Given the description of an element on the screen output the (x, y) to click on. 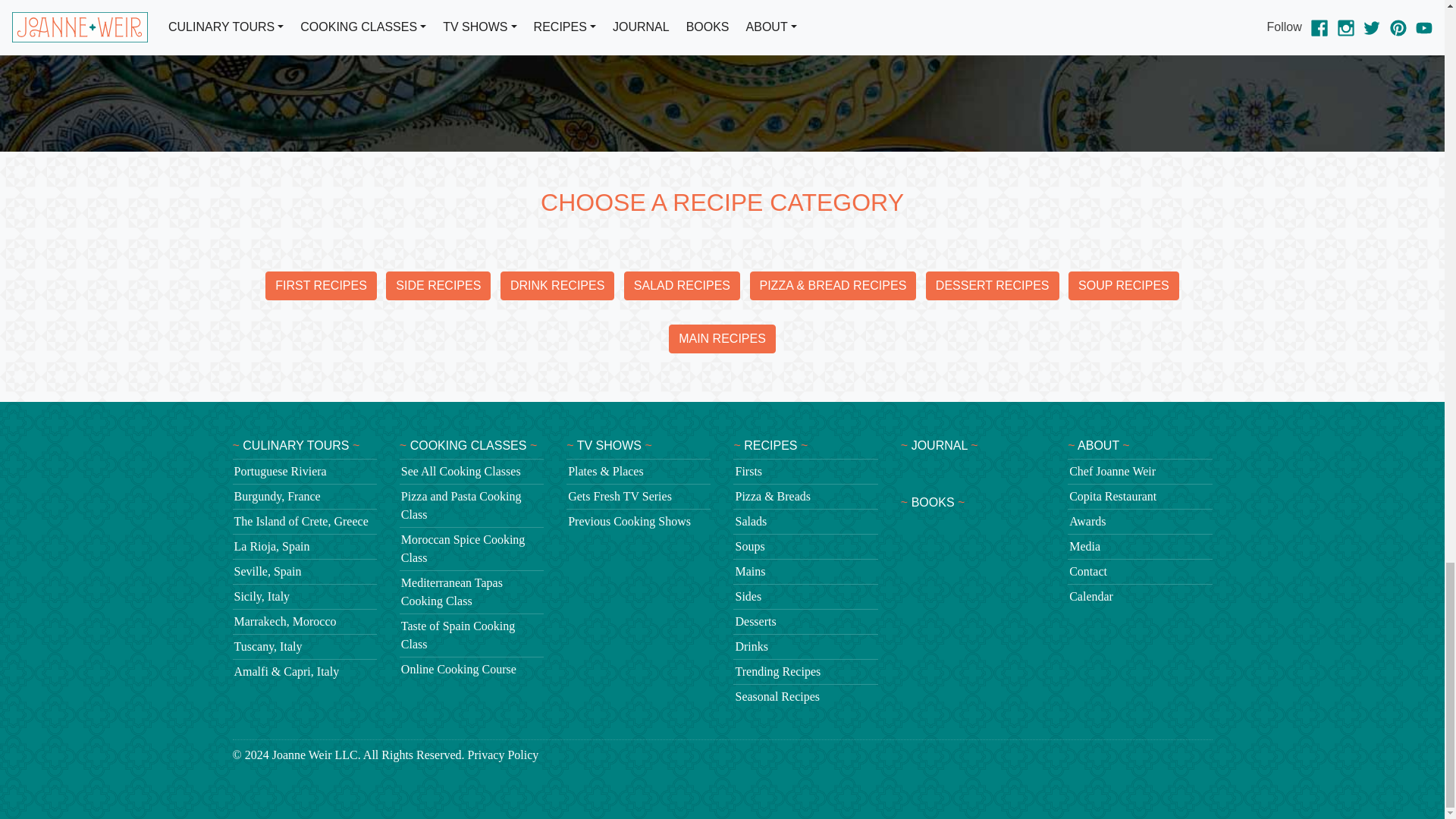
Go (1200, 30)
